Given the description of an element on the screen output the (x, y) to click on. 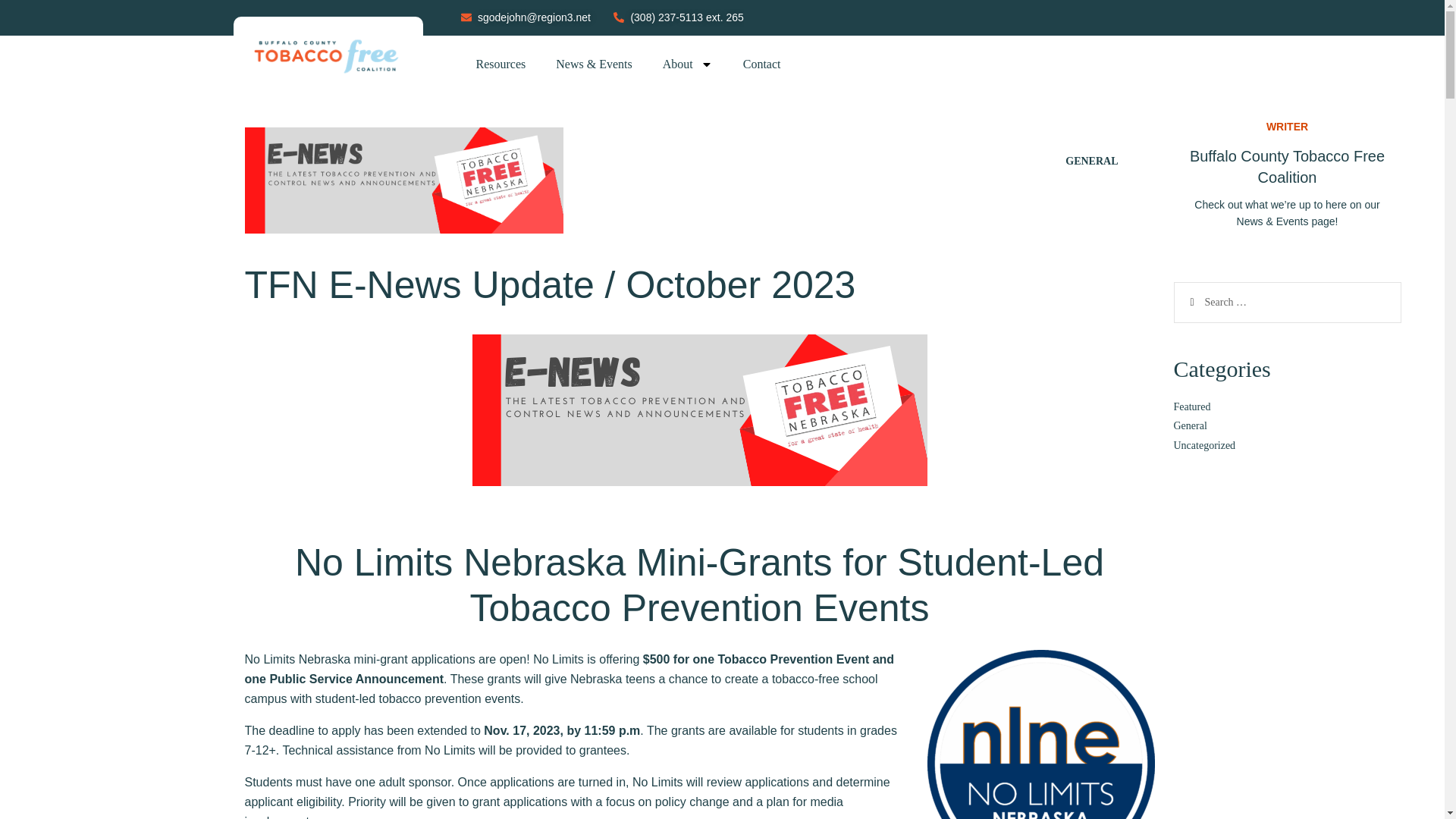
Resources (501, 63)
Contact (762, 63)
mini-grant applications (414, 658)
GENERAL (1091, 160)
adult sponsor (414, 781)
About (687, 63)
